Given the description of an element on the screen output the (x, y) to click on. 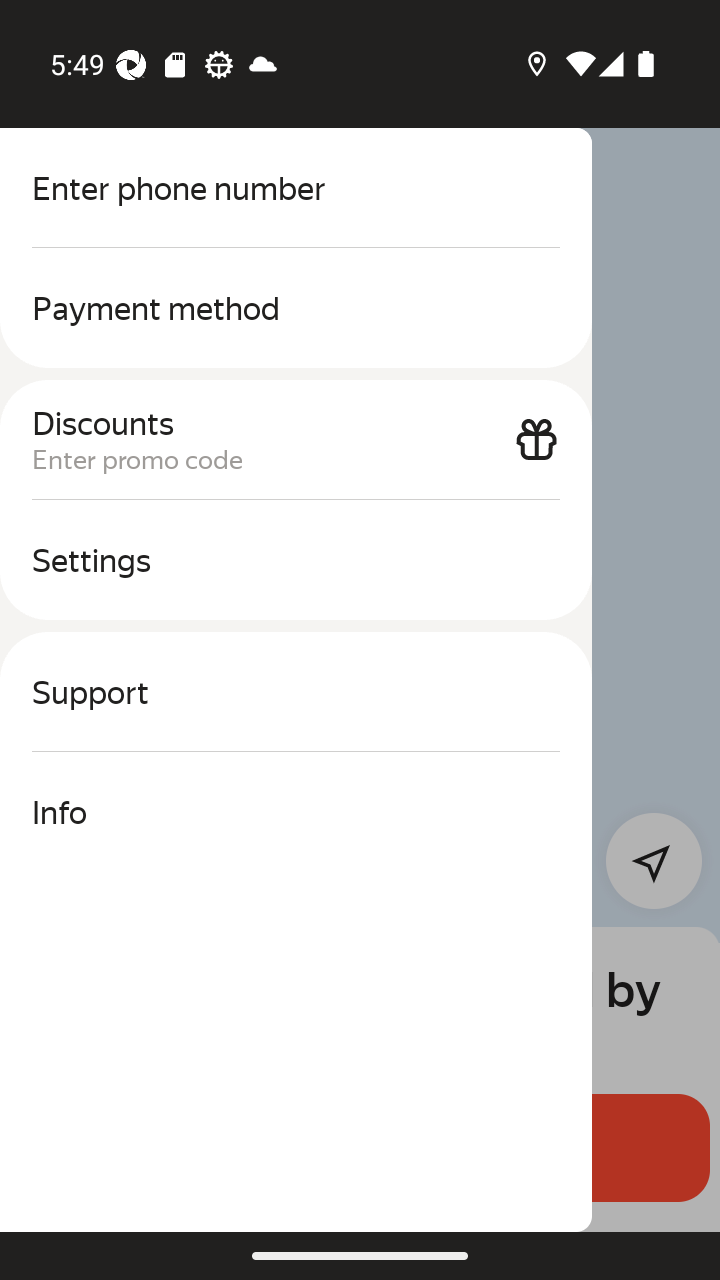
Enter phone number (295, 188)
Payment method (295, 308)
Settings (295, 559)
Support (295, 692)
Info (295, 811)
